Given the description of an element on the screen output the (x, y) to click on. 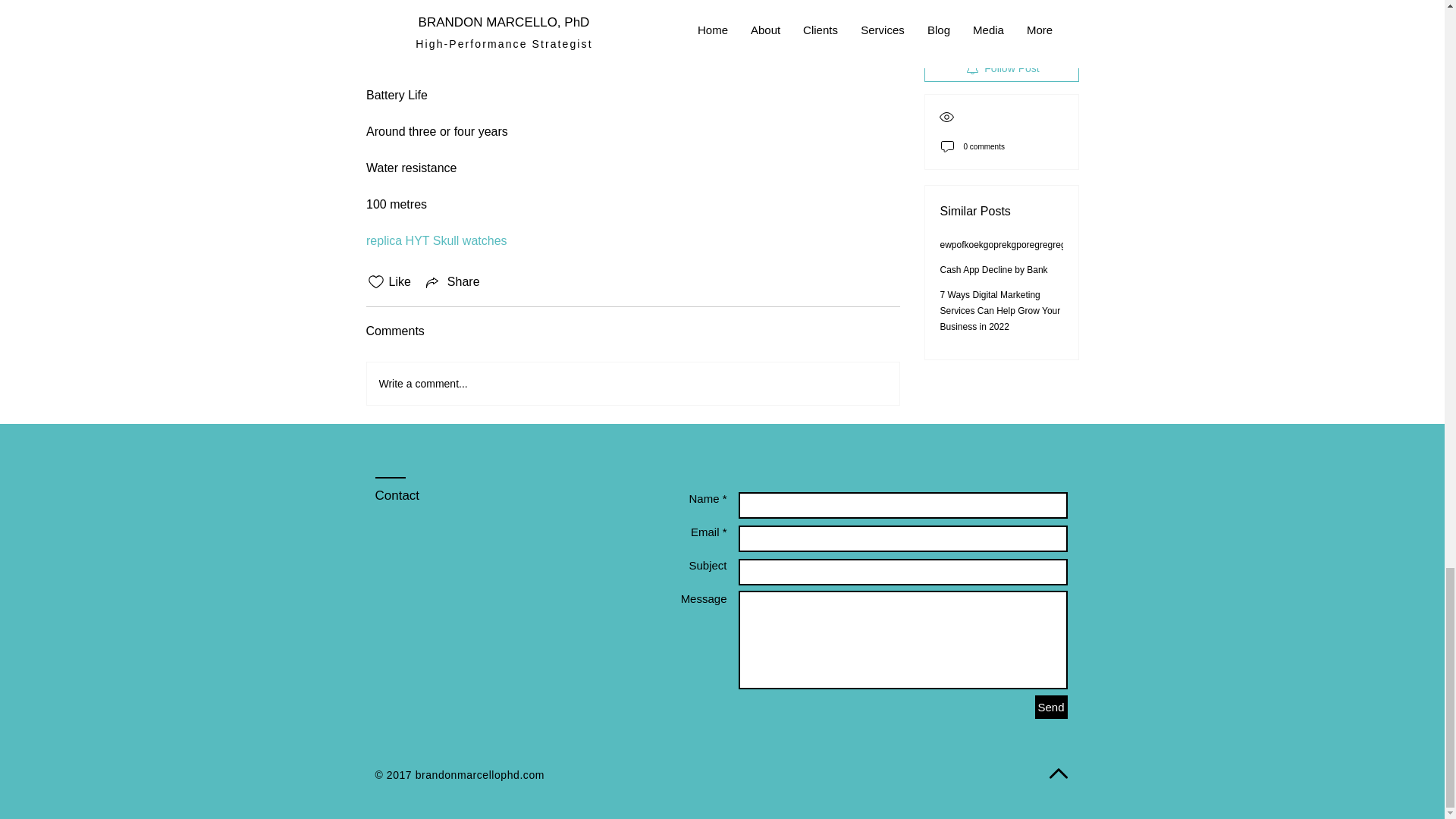
Share (451, 281)
replica HYT Skull watches  (437, 240)
Send (1050, 707)
Write a comment... (632, 383)
